Given the description of an element on the screen output the (x, y) to click on. 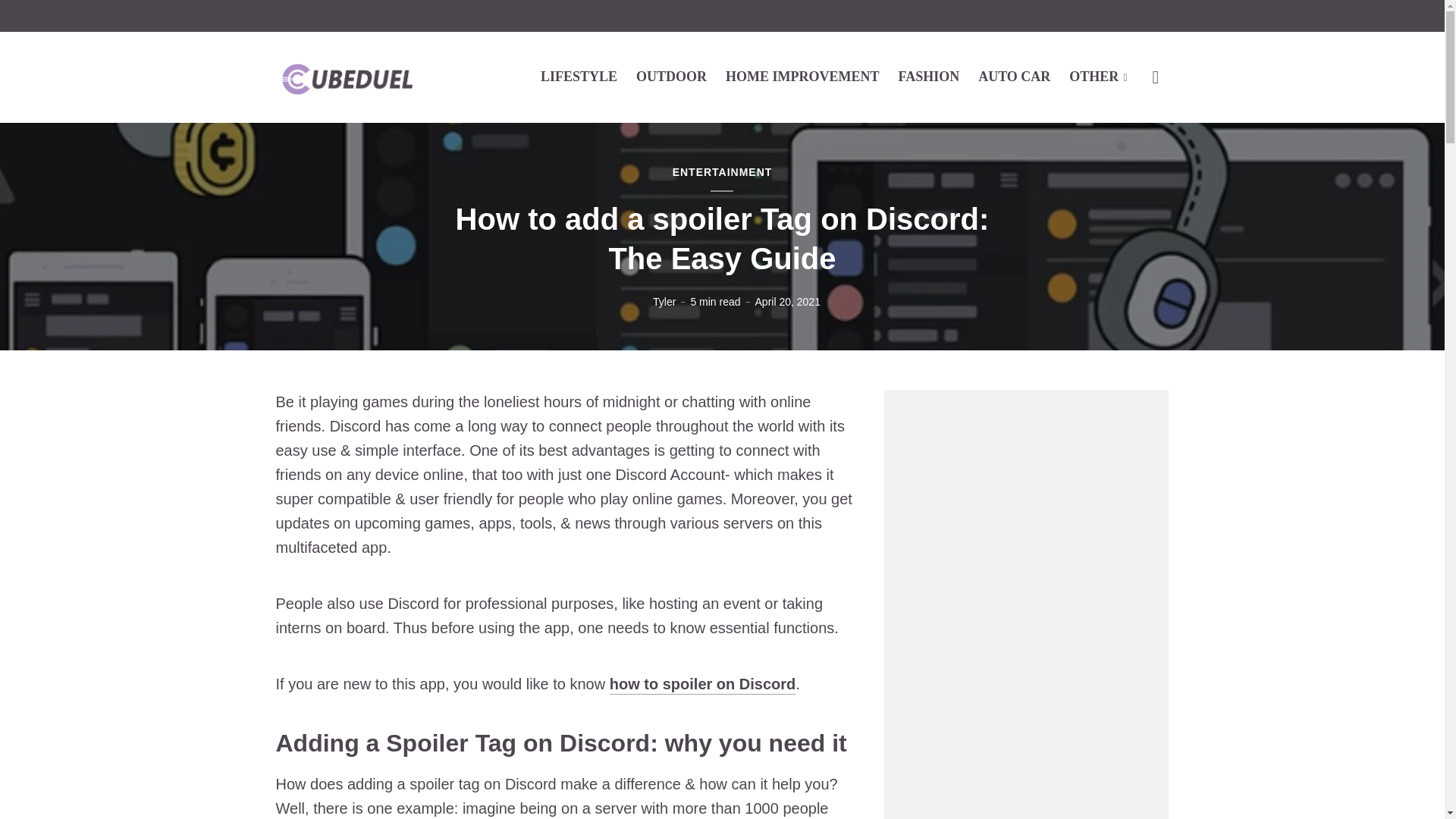
OUTDOOR (671, 76)
OTHER (1097, 76)
LIFESTYLE (578, 76)
AUTO CAR (1013, 76)
FASHION (928, 76)
HOME IMPROVEMENT (802, 76)
